Given the description of an element on the screen output the (x, y) to click on. 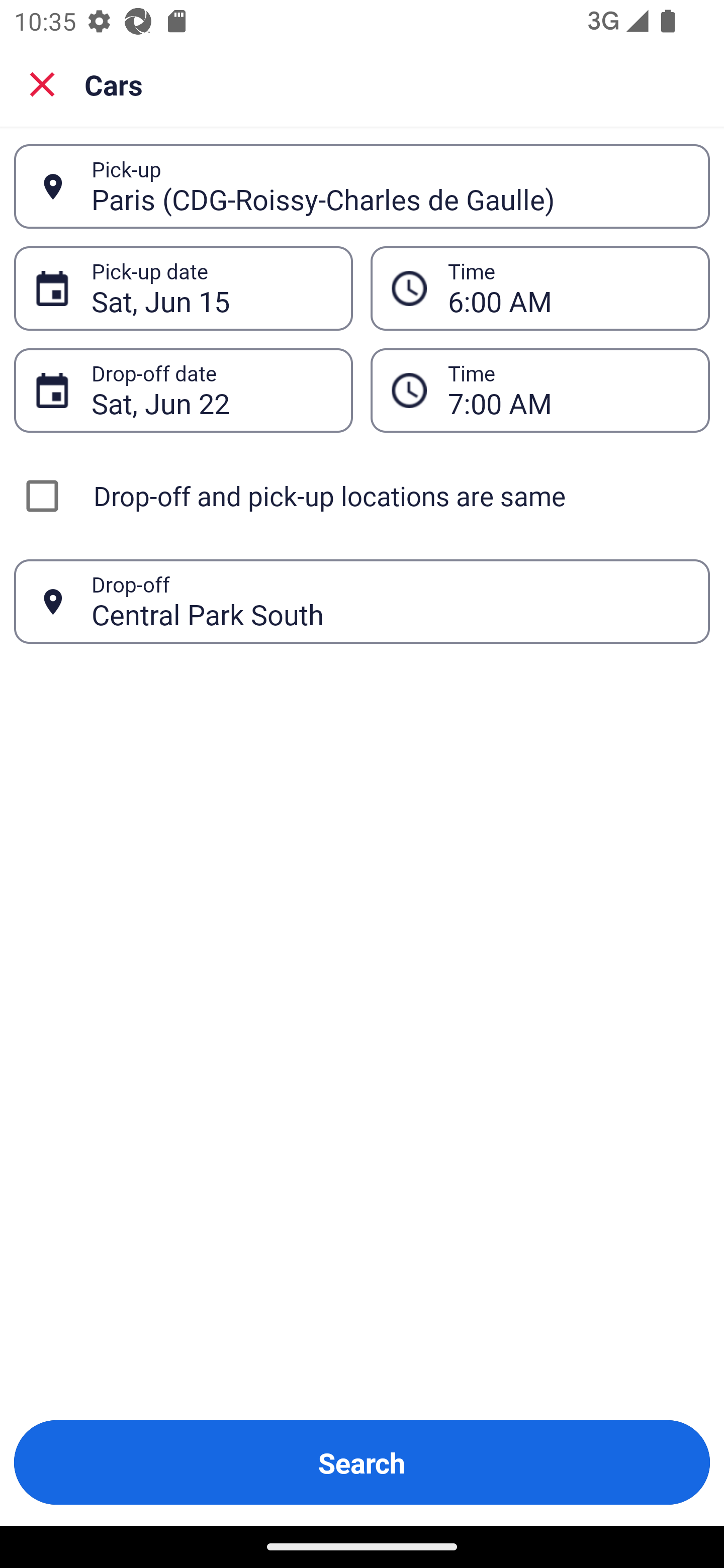
Close search screen (41, 83)
Paris (CDG-Roissy-Charles de Gaulle) Pick-up (361, 186)
Paris (CDG-Roissy-Charles de Gaulle) (389, 186)
Sat, Jun 15 Pick-up date (183, 288)
6:00 AM (540, 288)
Sat, Jun 15 (211, 288)
6:00 AM (568, 288)
Sat, Jun 22 Drop-off date (183, 390)
7:00 AM (540, 390)
Sat, Jun 22 (211, 390)
7:00 AM (568, 390)
Drop-off and pick-up locations are same (361, 495)
Central Park South Drop-off (361, 601)
Central Park South (389, 601)
Search Button Search (361, 1462)
